Given the description of an element on the screen output the (x, y) to click on. 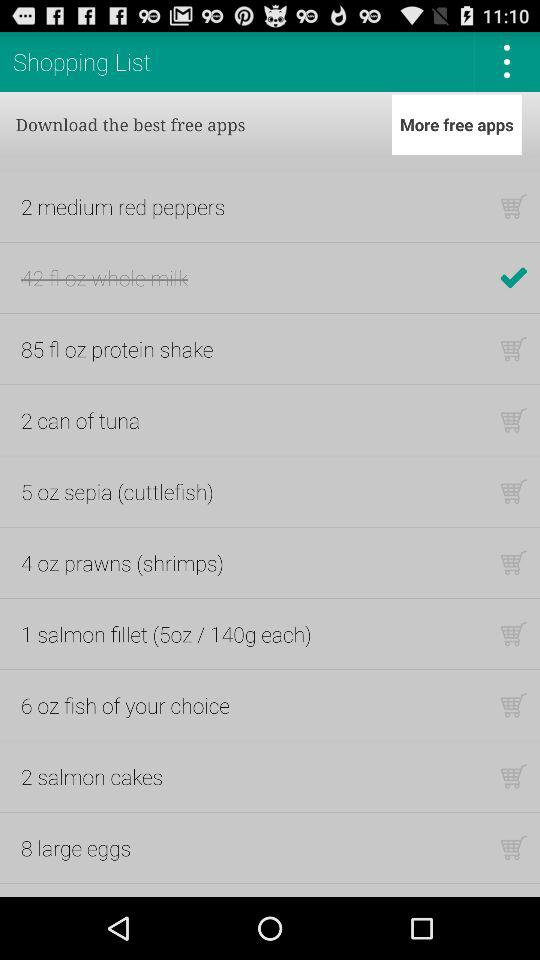
turn on 2 salmon cakes item (91, 776)
